Given the description of an element on the screen output the (x, y) to click on. 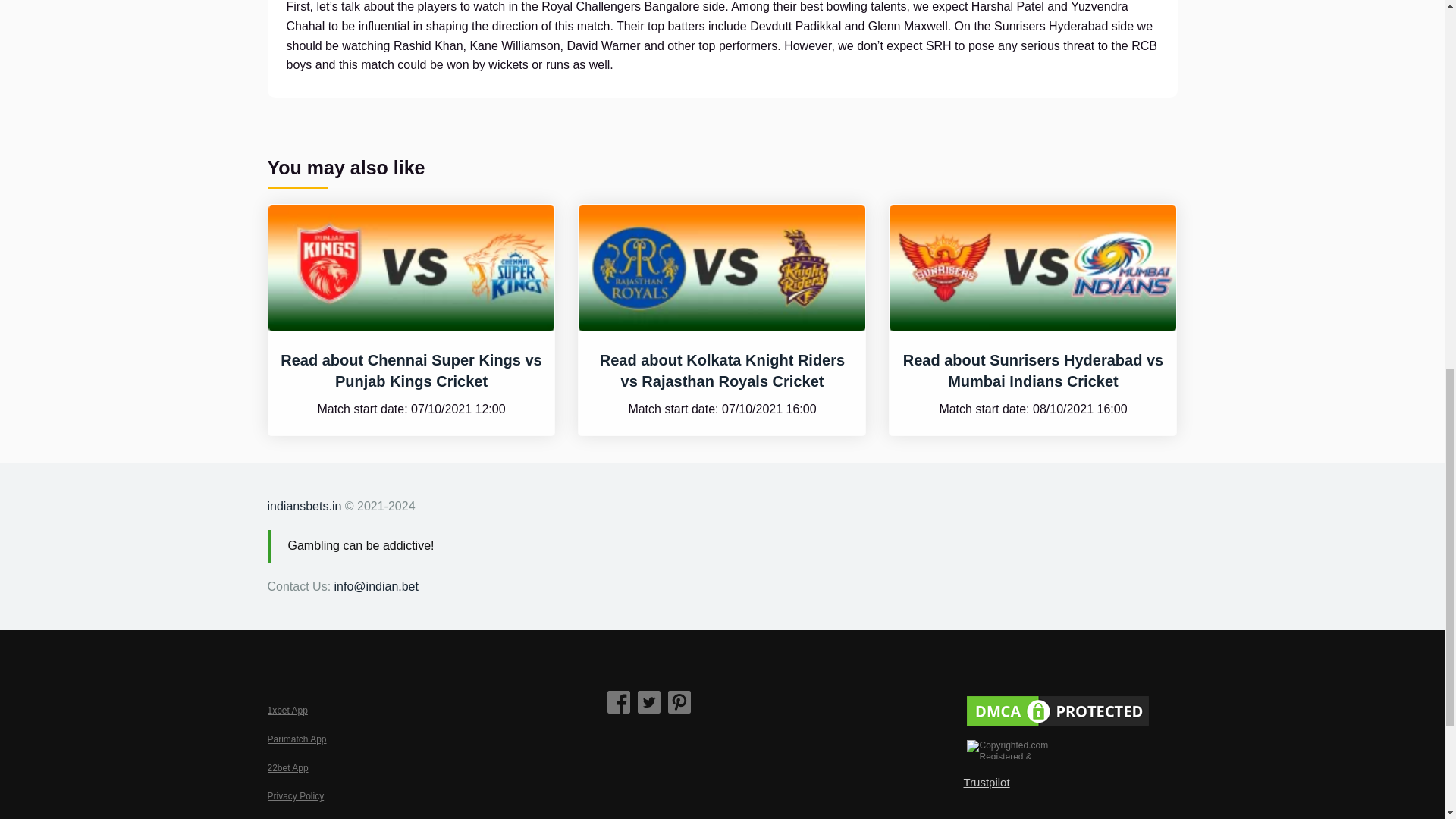
Sunrisers Hyderabad vs Mumbai Indians match prediction (1032, 268)
Read about Sunrisers Hyderabad vs Mumbai Indians Cricket (1032, 370)
Read about Chennai Super Kings vs Punjab Kings Cricket (411, 370)
Read Chennai Super Kings vs Punjab Kings (411, 370)
Read Sunrisers Hyderabad vs Mumbai Indians match prediction (1032, 370)
Kolkata Knight Riders vs Rajasthan Royals (721, 268)
Twitter (649, 702)
Read Kolkata Knight Riders vs Rajasthan Royals (721, 370)
indiansbets.in (303, 505)
Facebook (618, 702)
